Given the description of an element on the screen output the (x, y) to click on. 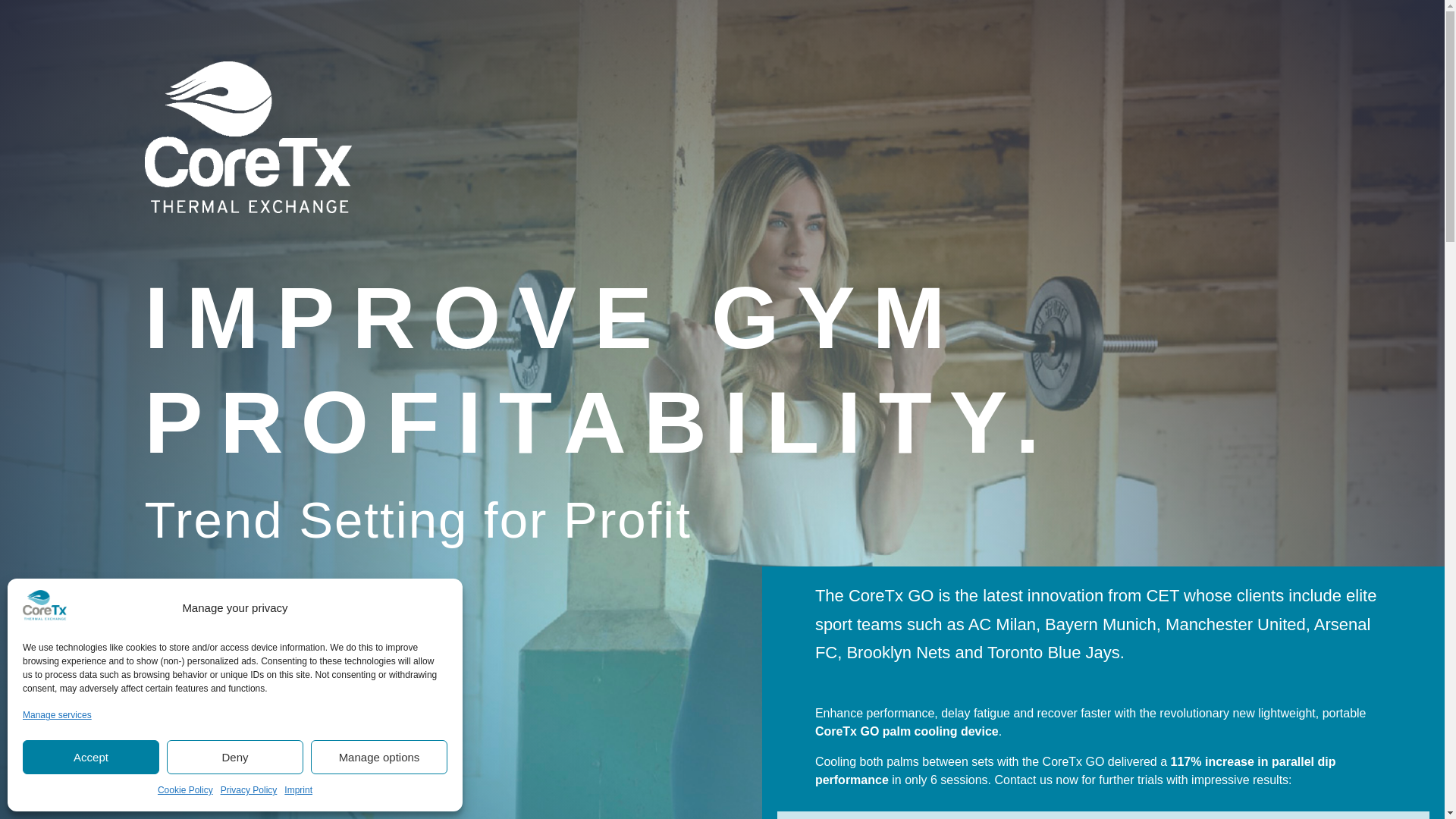
Manage services (57, 715)
Deny (234, 756)
Manage options (378, 756)
CoreTX-logo-white (247, 136)
Privacy Policy (249, 791)
Imprint (298, 791)
Cookie Policy (184, 791)
Accept (90, 756)
